Given the description of an element on the screen output the (x, y) to click on. 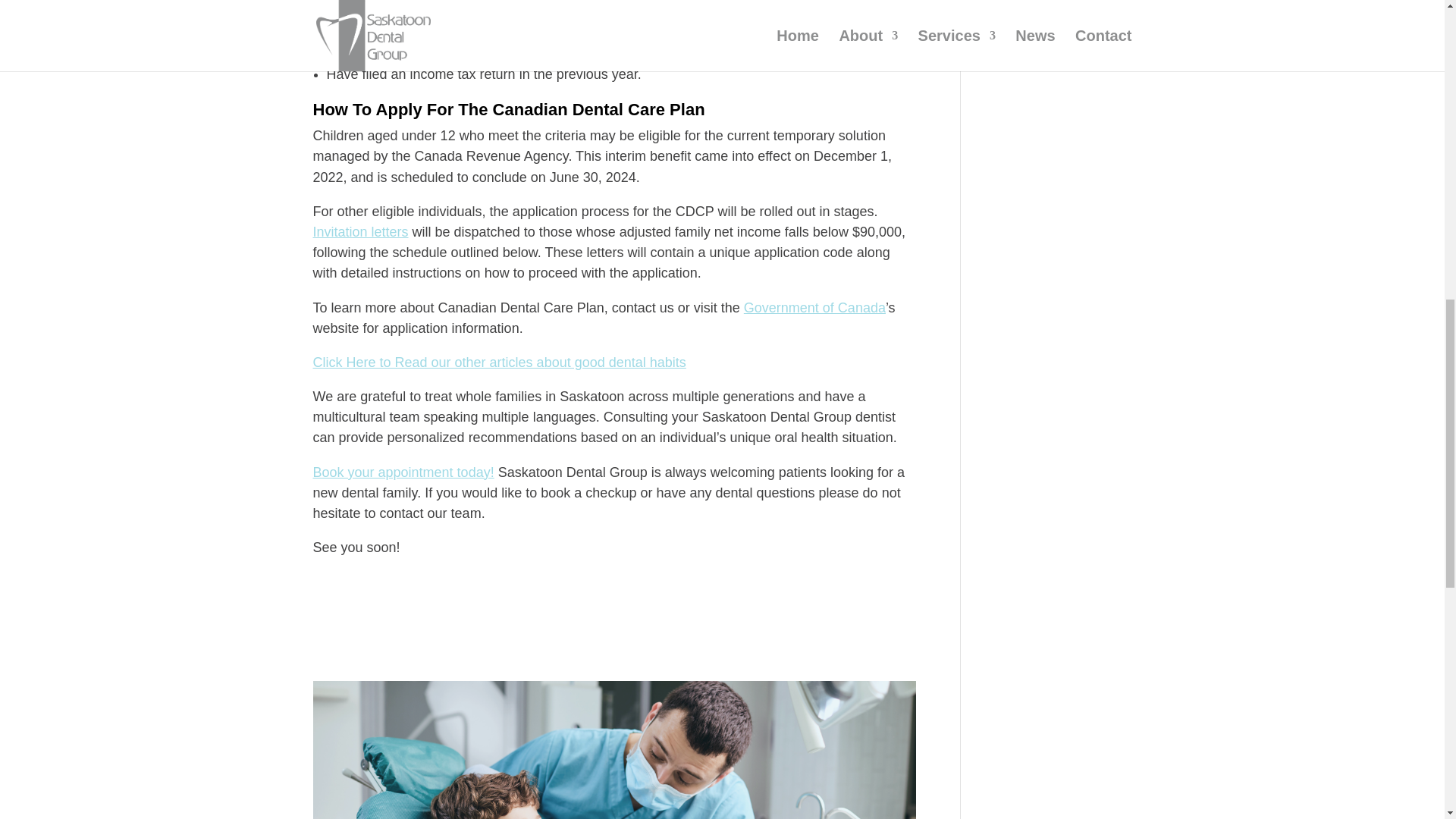
Book your appointment today! (403, 472)
Invitation letters (360, 231)
Government of Canada (814, 307)
